Given the description of an element on the screen output the (x, y) to click on. 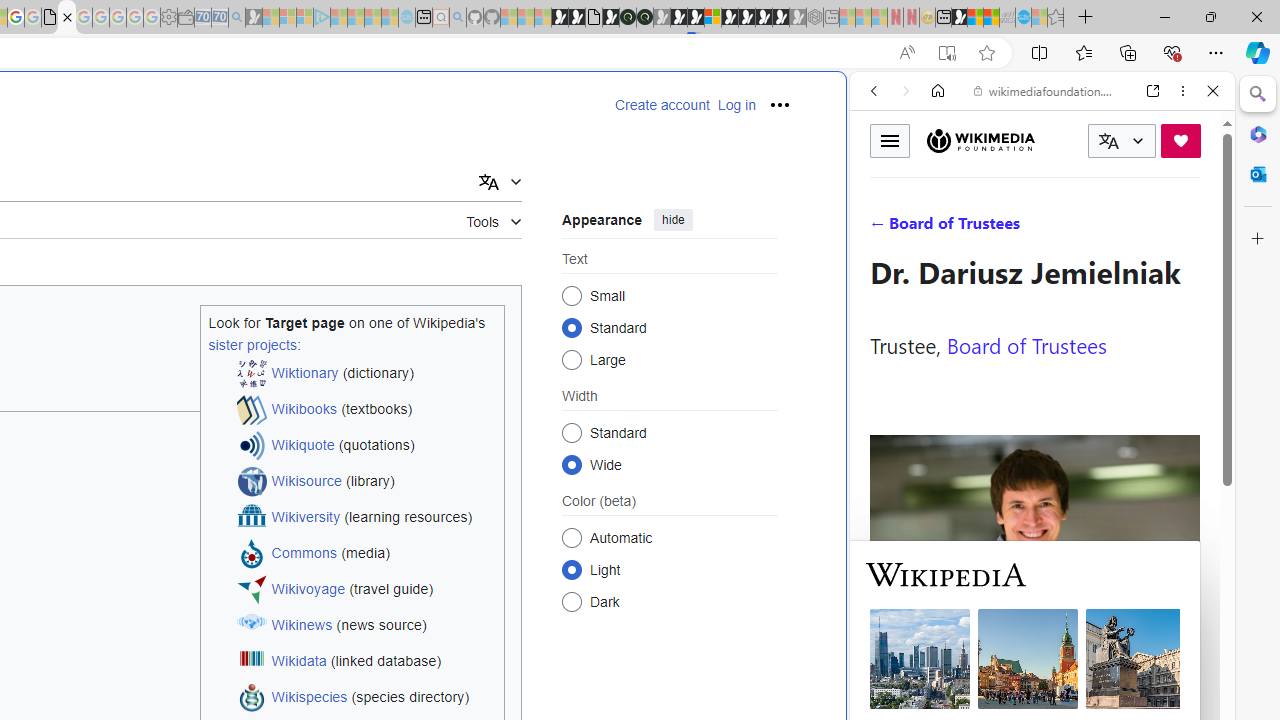
Play Zoo Boom in your browser | Games from Microsoft Start (576, 17)
Toggle menu (890, 140)
Automatic (571, 537)
Open link in new tab (1153, 91)
hide (673, 219)
Play Cave FRVR in your browser | Games from Microsoft Start (343, 426)
SEARCH TOOLS (1093, 228)
Enter Immersive Reader (F9) (946, 53)
MSN (959, 17)
